Given the description of an element on the screen output the (x, y) to click on. 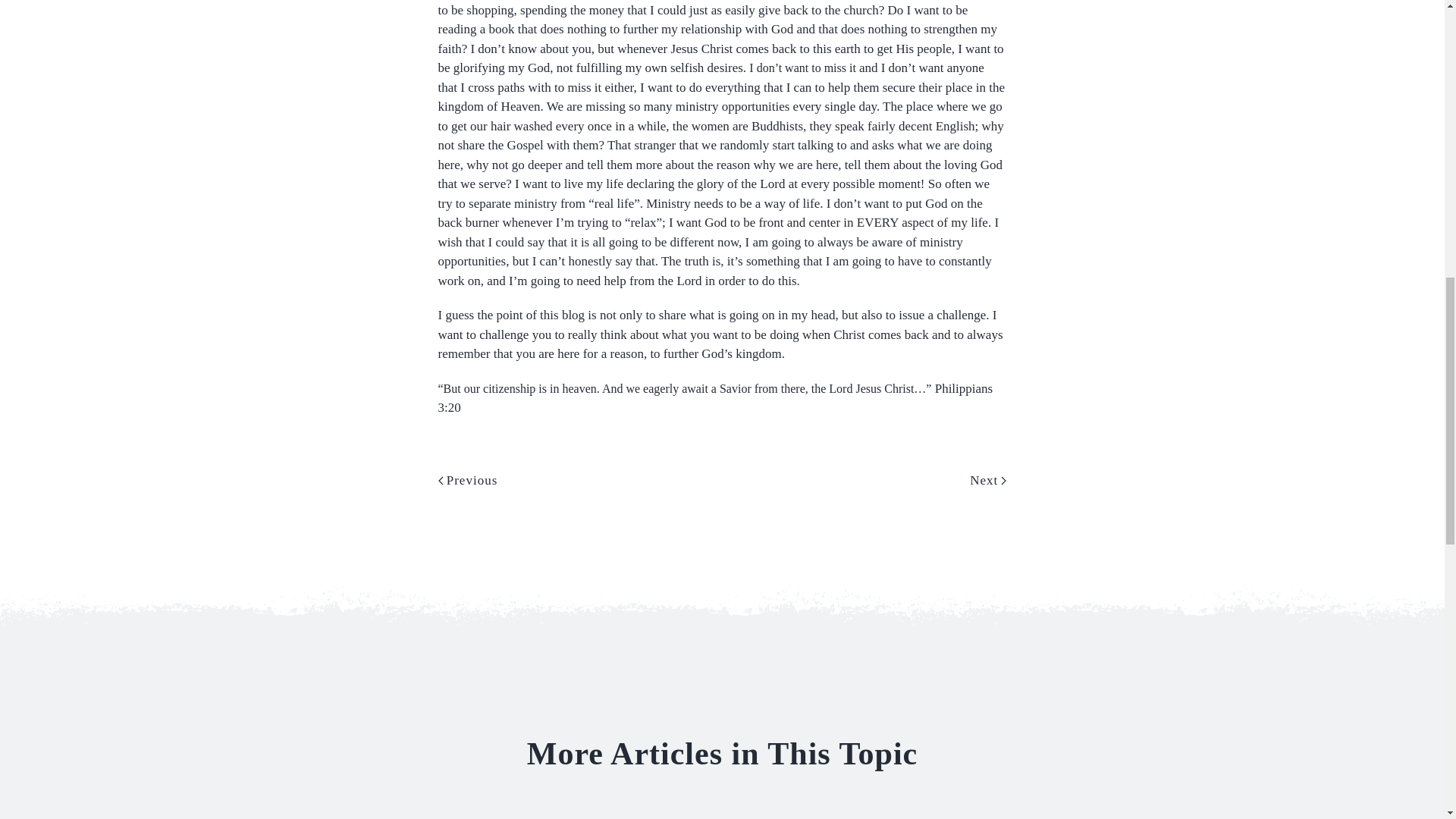
Previous (467, 480)
Next (987, 480)
